Given the description of an element on the screen output the (x, y) to click on. 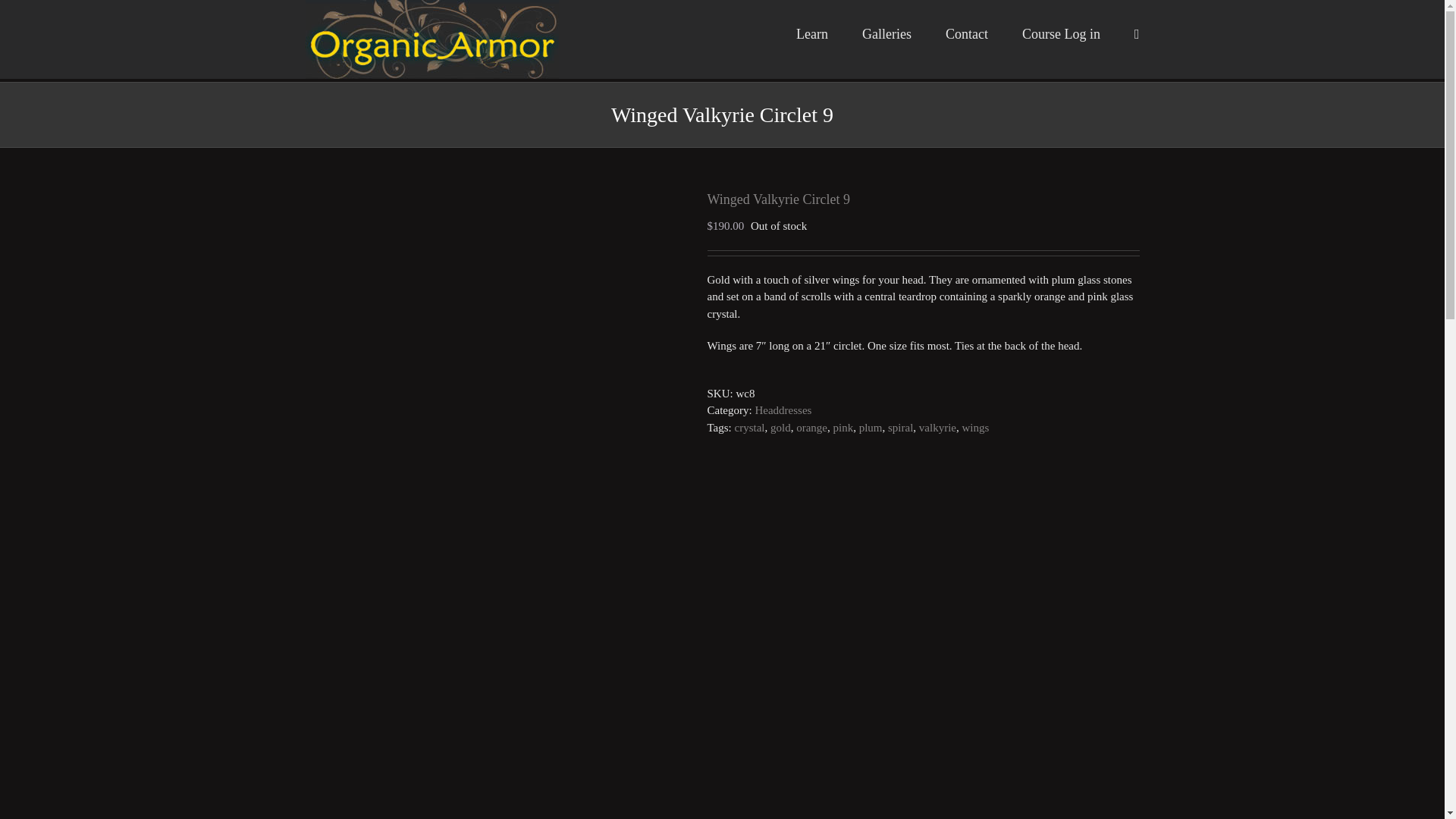
spiral (900, 427)
Course Log in (1061, 32)
valkyrie (937, 427)
crystal (750, 427)
orange (811, 427)
wings (974, 427)
plum (870, 427)
Headdresses (782, 410)
pink (842, 427)
gold (780, 427)
